Given the description of an element on the screen output the (x, y) to click on. 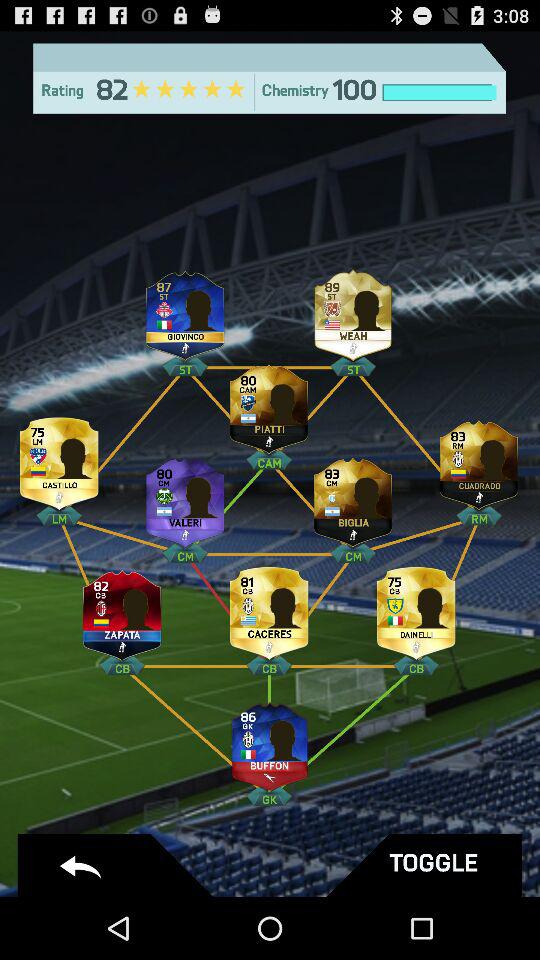
select right midfielder (479, 460)
